Given the description of an element on the screen output the (x, y) to click on. 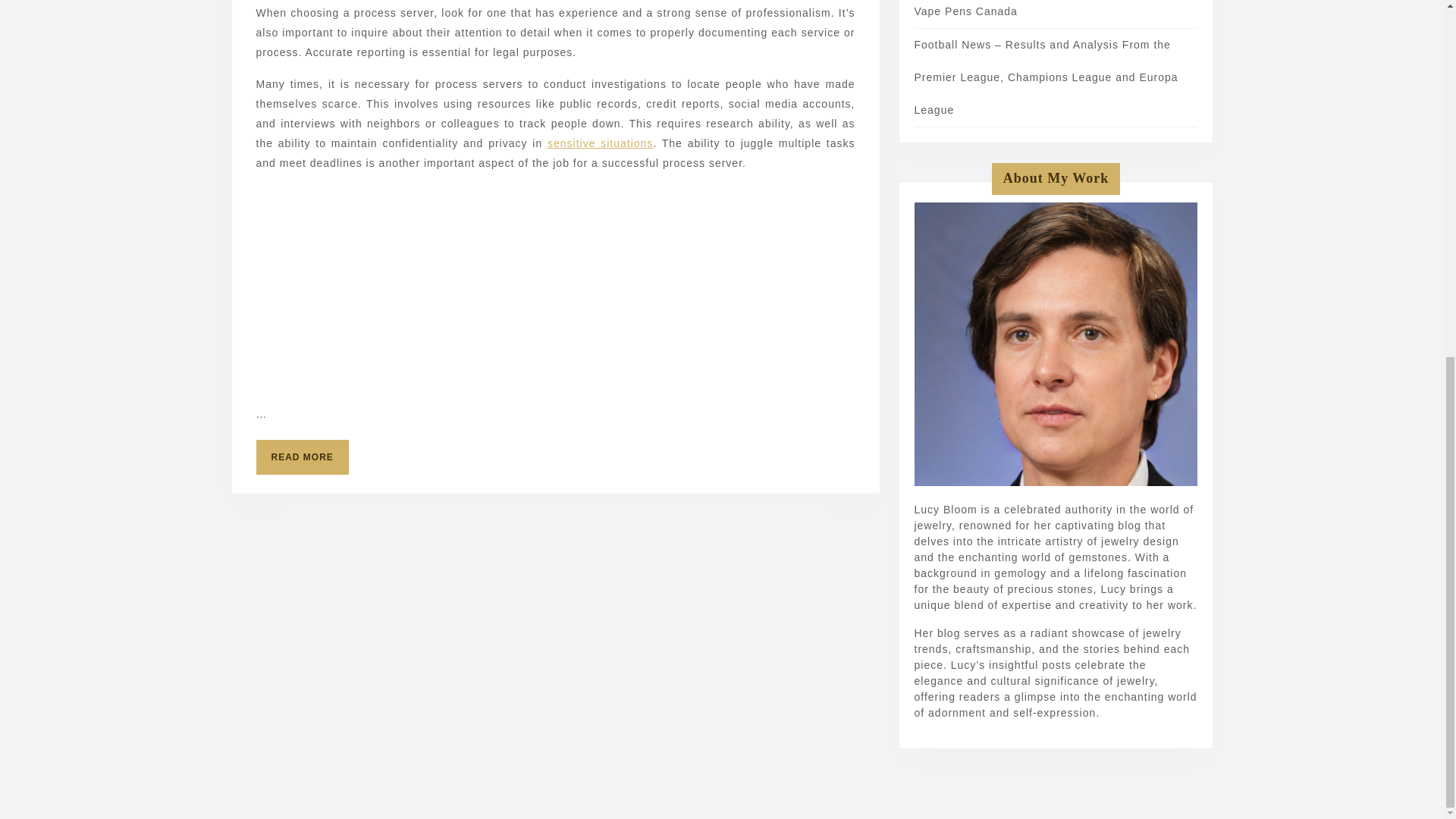
Process Servers and Their Legal Expertise (684, 118)
Process servers and their legal expertise (553, 124)
sensitive situations (559, 242)
Vape Pens Canada (558, 123)
